Given the description of an element on the screen output the (x, y) to click on. 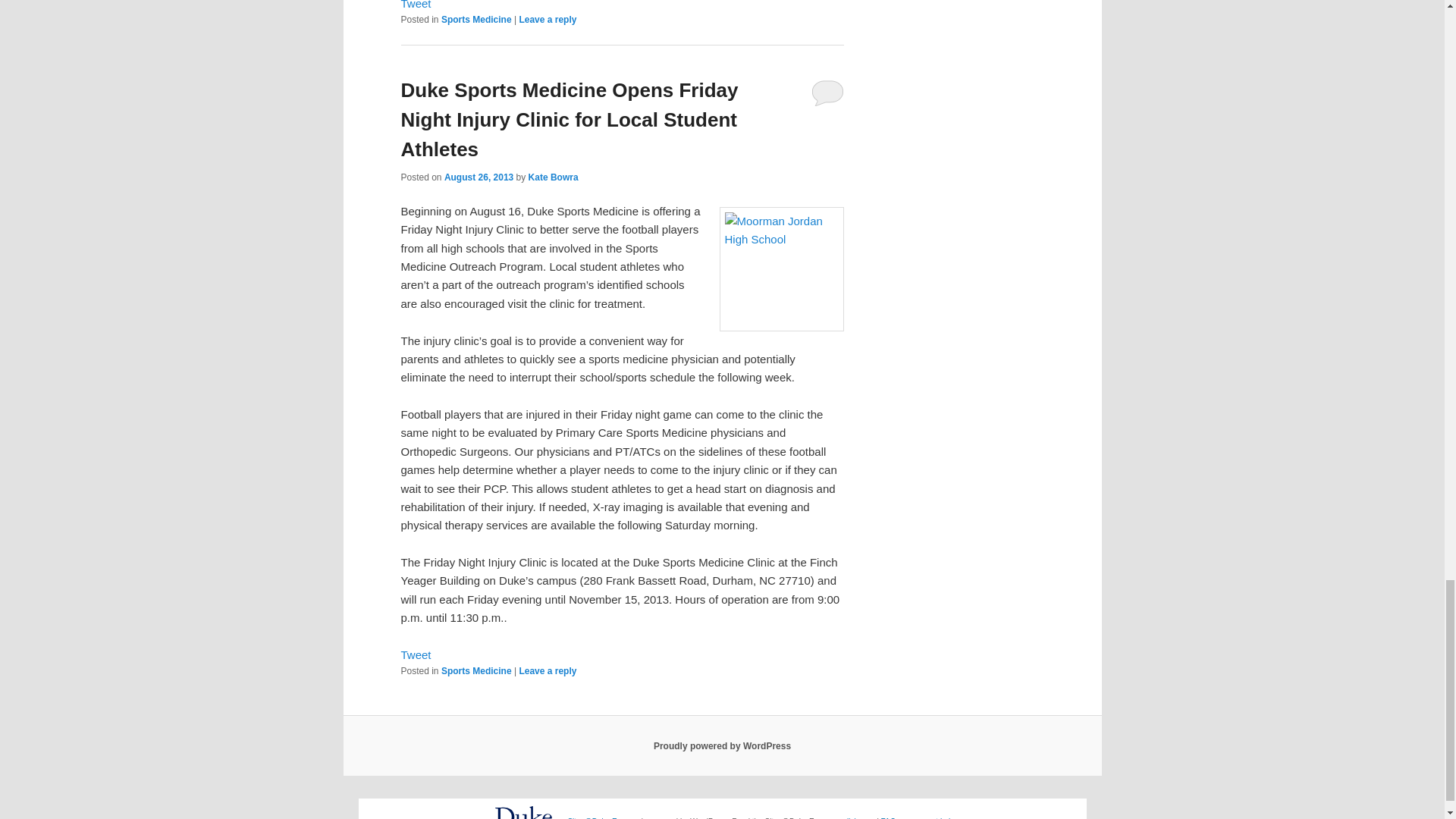
Semantic Personal Publishing Platform (721, 745)
11:02 am (478, 176)
View all posts by Kate Bowra (553, 176)
